Given the description of an element on the screen output the (x, y) to click on. 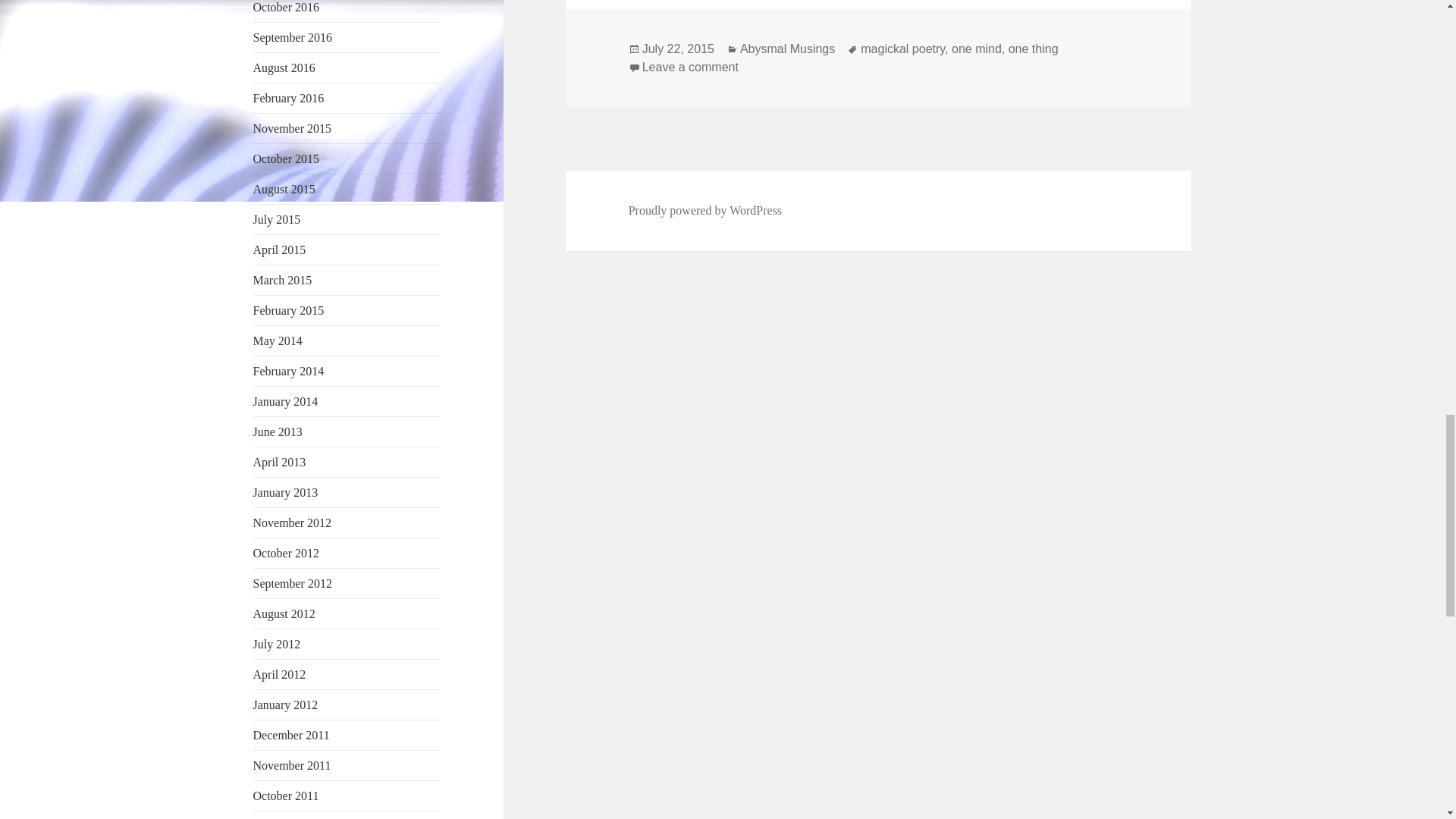
October 2016 (286, 6)
August 2016 (284, 67)
September 2016 (292, 37)
February 2016 (288, 97)
